Given the description of an element on the screen output the (x, y) to click on. 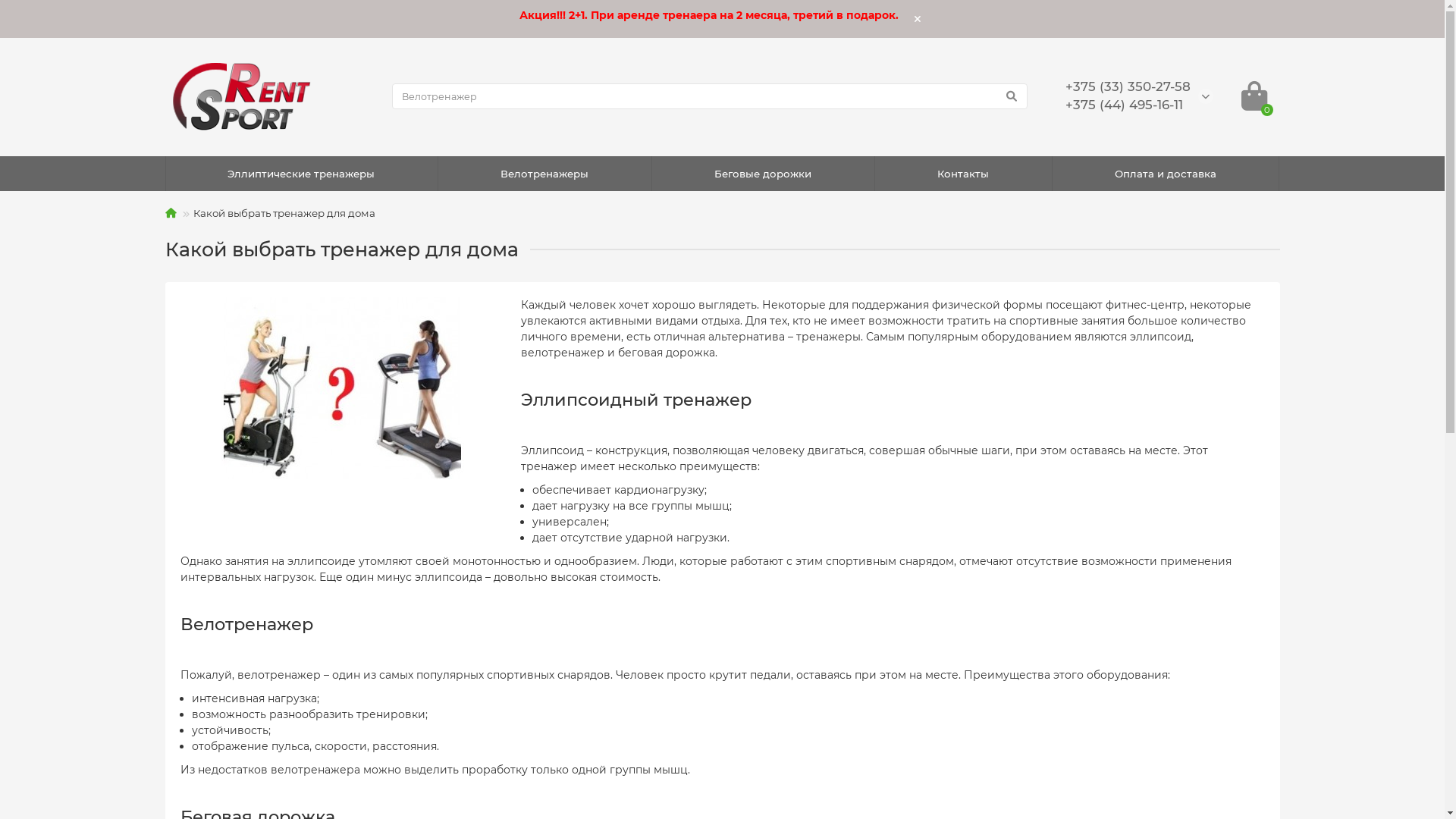
rent-sport.by Element type: hover (243, 96)
0 Element type: text (1253, 95)
